Given the description of an element on the screen output the (x, y) to click on. 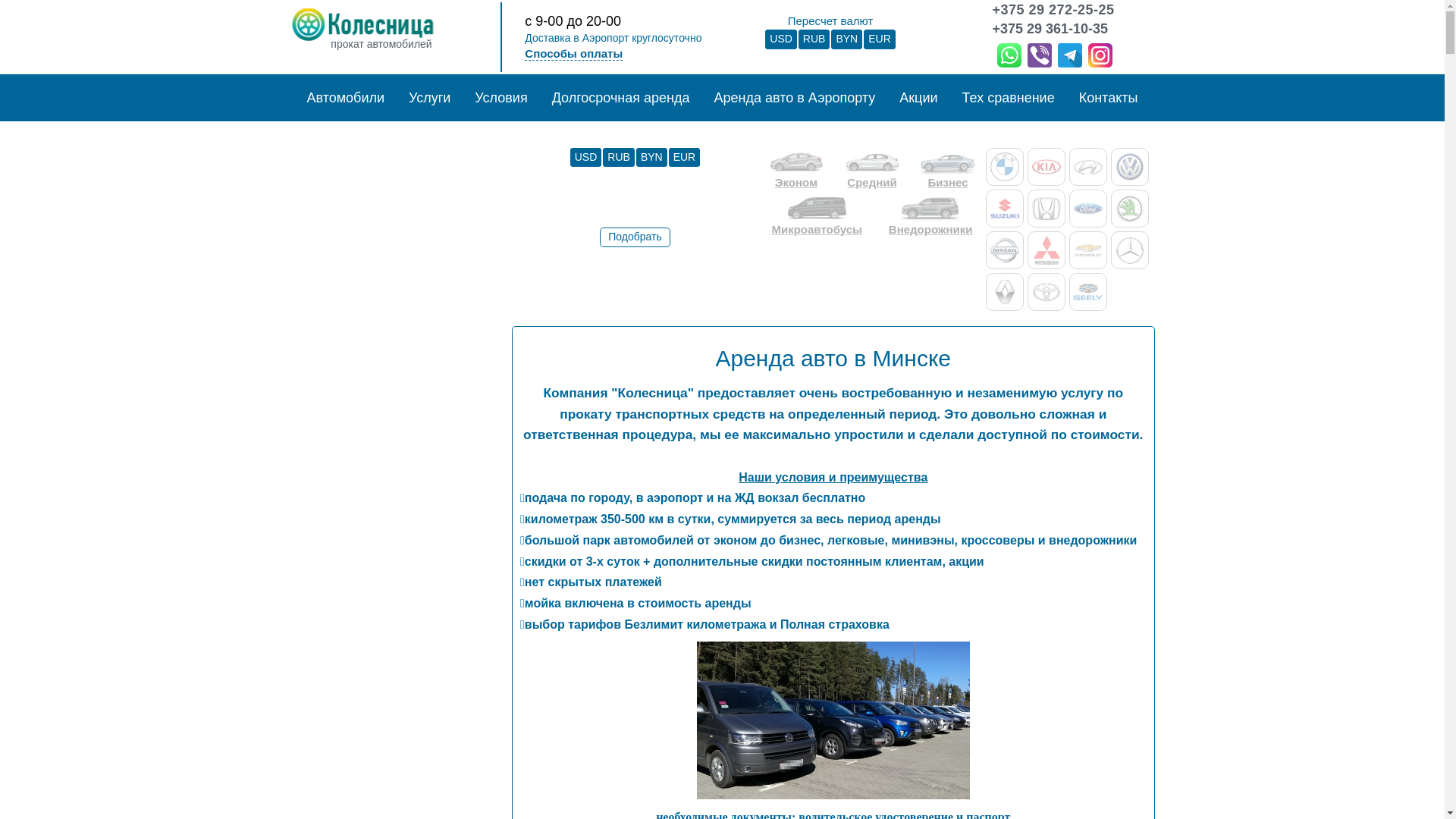
+375 29 361-10-35 Element type: text (1052, 28)
+375 29 272-25-25 Element type: text (1052, 9)
